Given the description of an element on the screen output the (x, y) to click on. 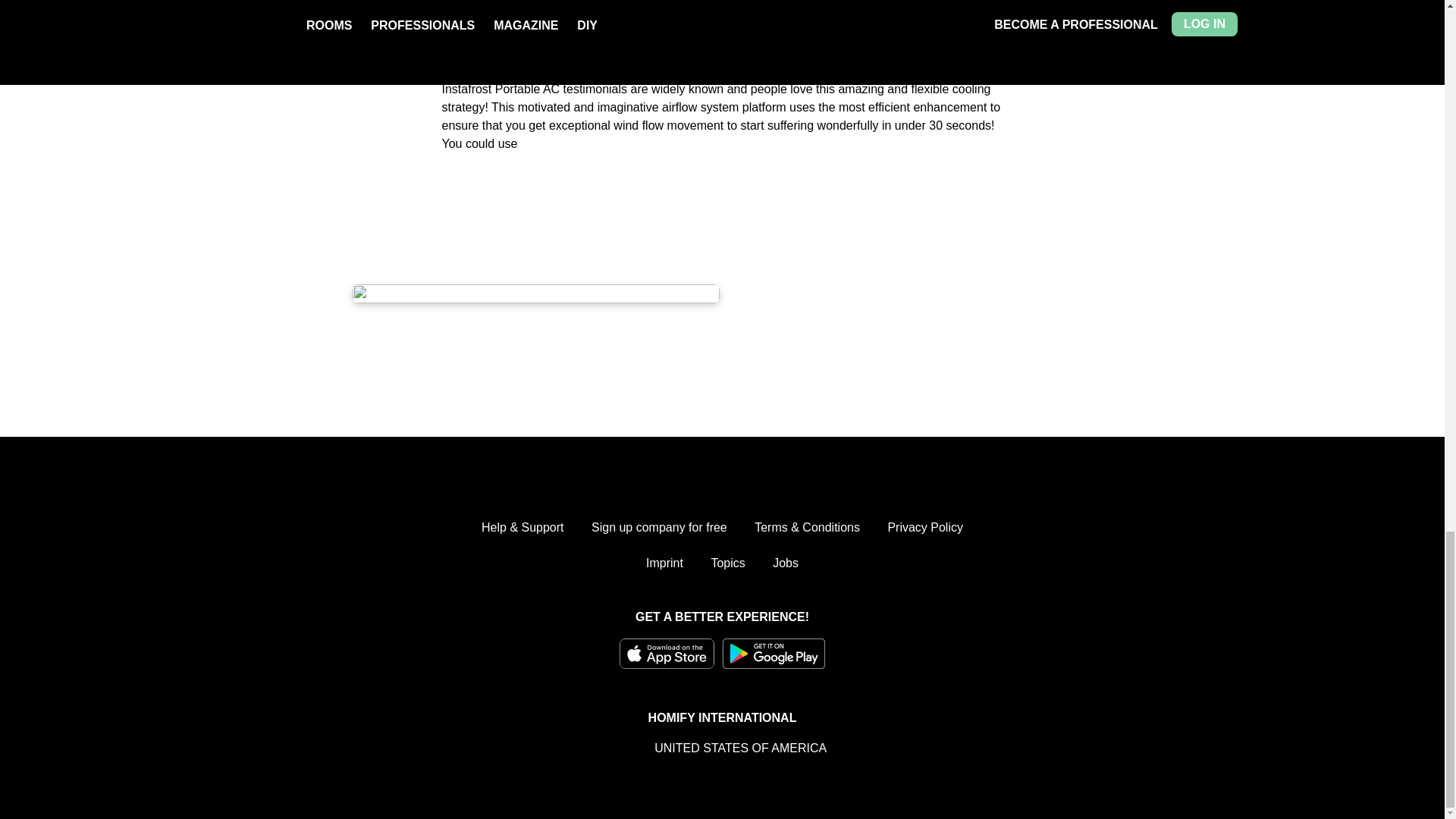
Imprint (664, 563)
Topics (727, 563)
Privacy Policy (924, 527)
Jobs (785, 563)
Sign up company for free (658, 527)
